Given the description of an element on the screen output the (x, y) to click on. 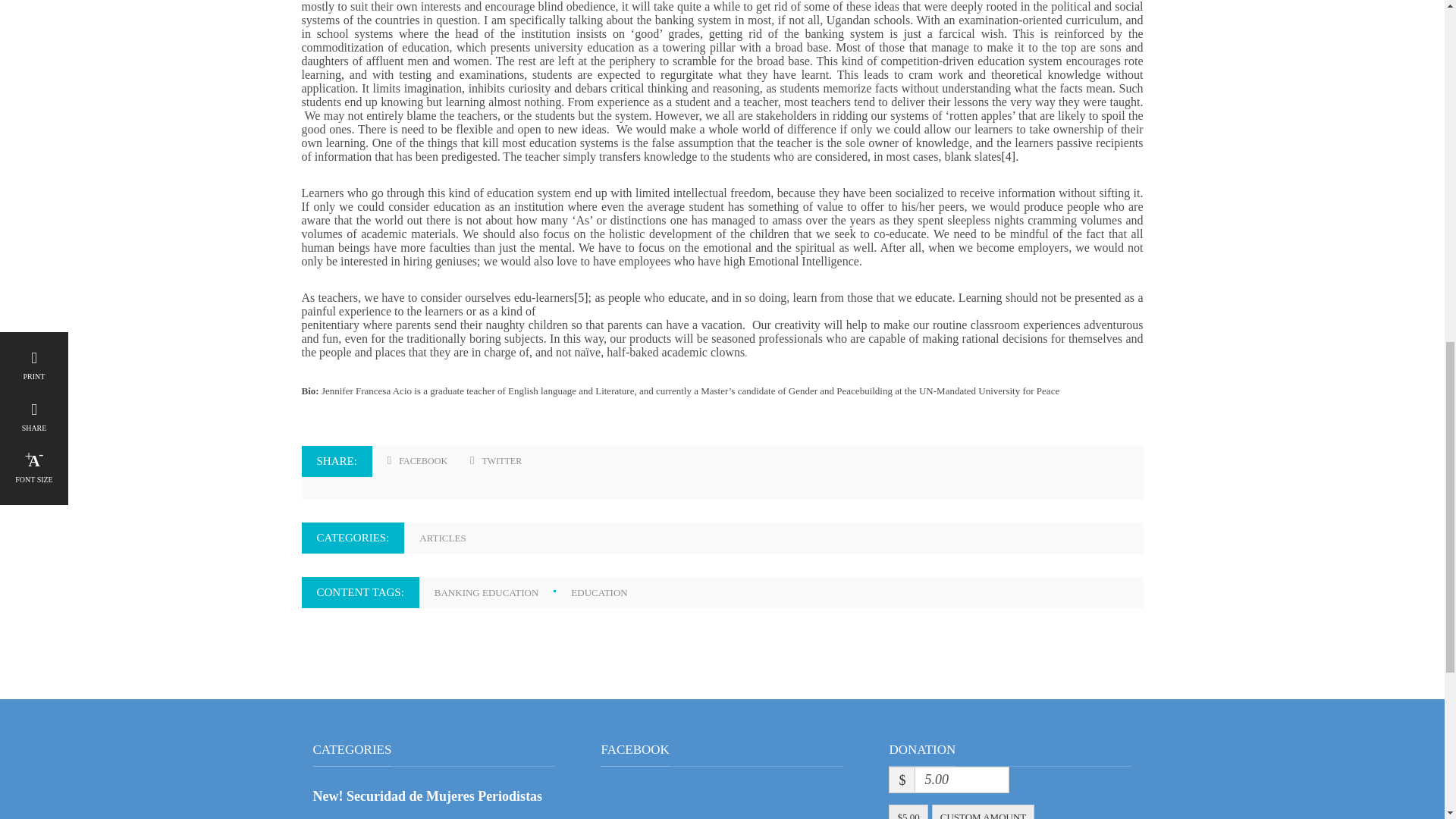
BANKING EDUCATION (502, 592)
FACEBOOK (416, 461)
EDUCATION (606, 592)
5.00 (961, 779)
TWITTER (495, 461)
ARTICLES (449, 537)
